Given the description of an element on the screen output the (x, y) to click on. 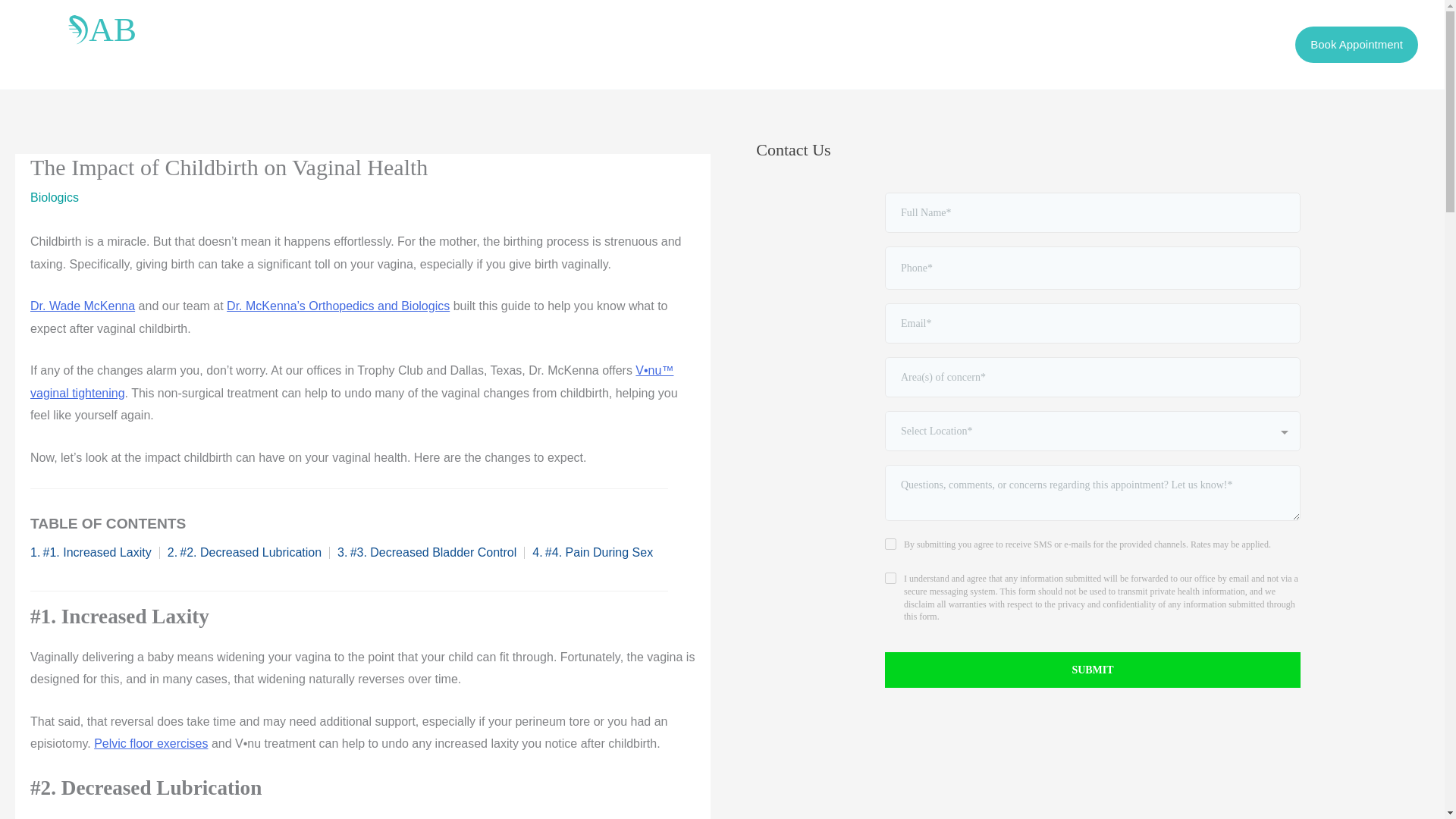
ABOUT US (726, 44)
OTHER SERVICES (451, 44)
AESTHETIC (339, 44)
REGENERATIVE (233, 44)
ZERO DOWNSIDE PODCAST (599, 44)
